Given the description of an element on the screen output the (x, y) to click on. 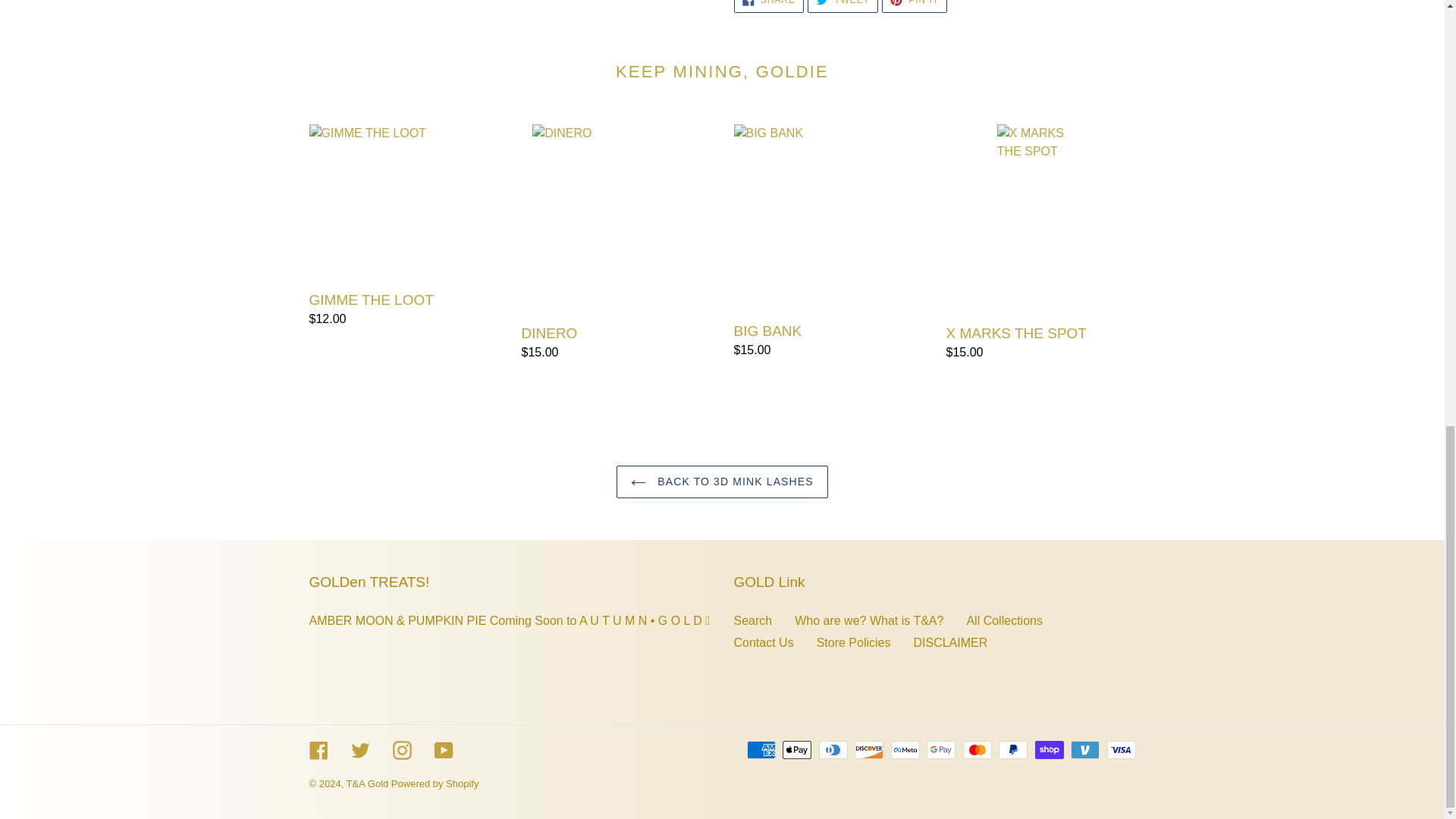
Search (768, 6)
All Collections (753, 620)
BACK TO 3D MINK LASHES (914, 6)
GIMME THE LOOT (1004, 620)
